Given the description of an element on the screen output the (x, y) to click on. 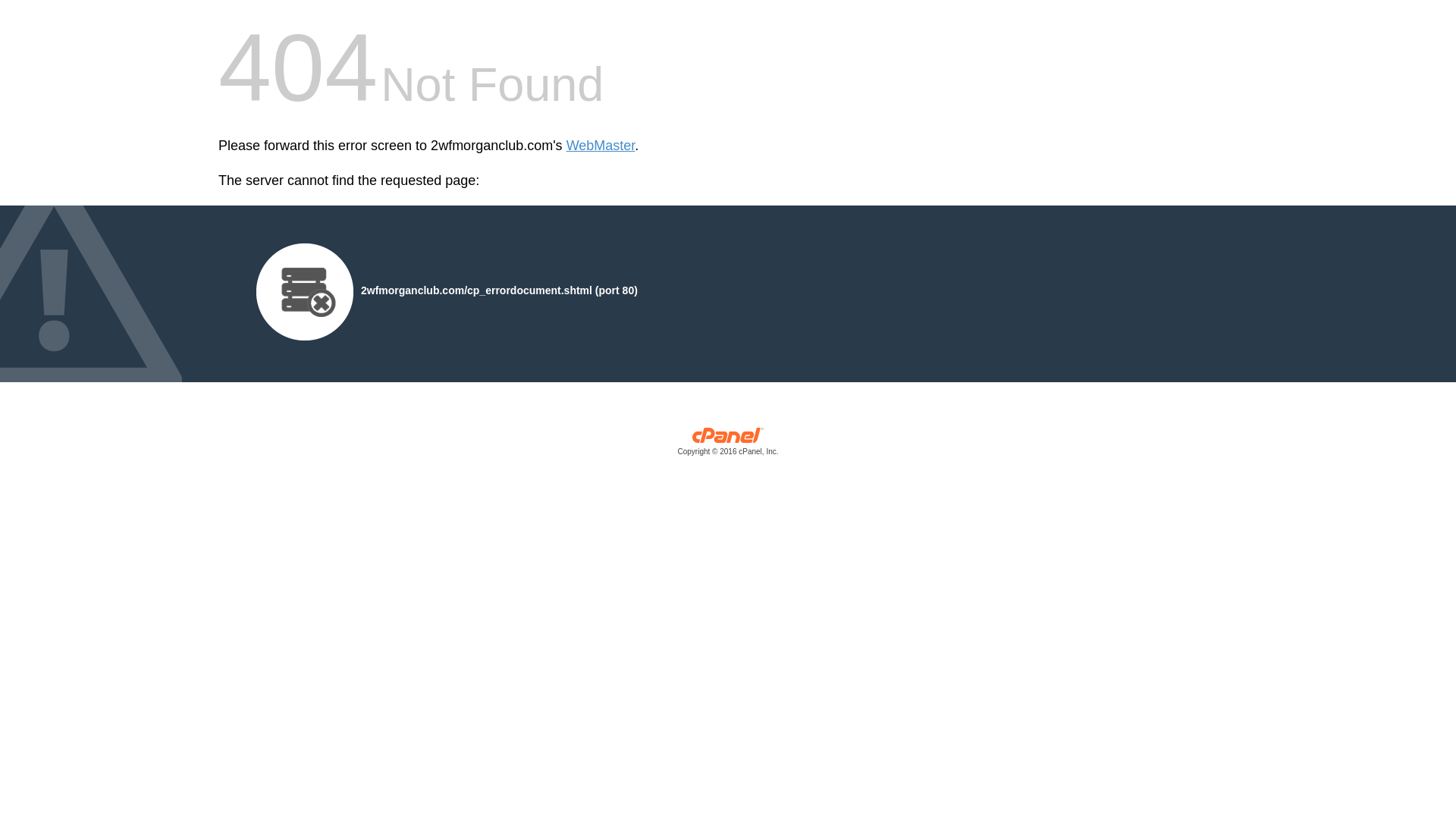
WebMaster Element type: text (600, 145)
